Given the description of an element on the screen output the (x, y) to click on. 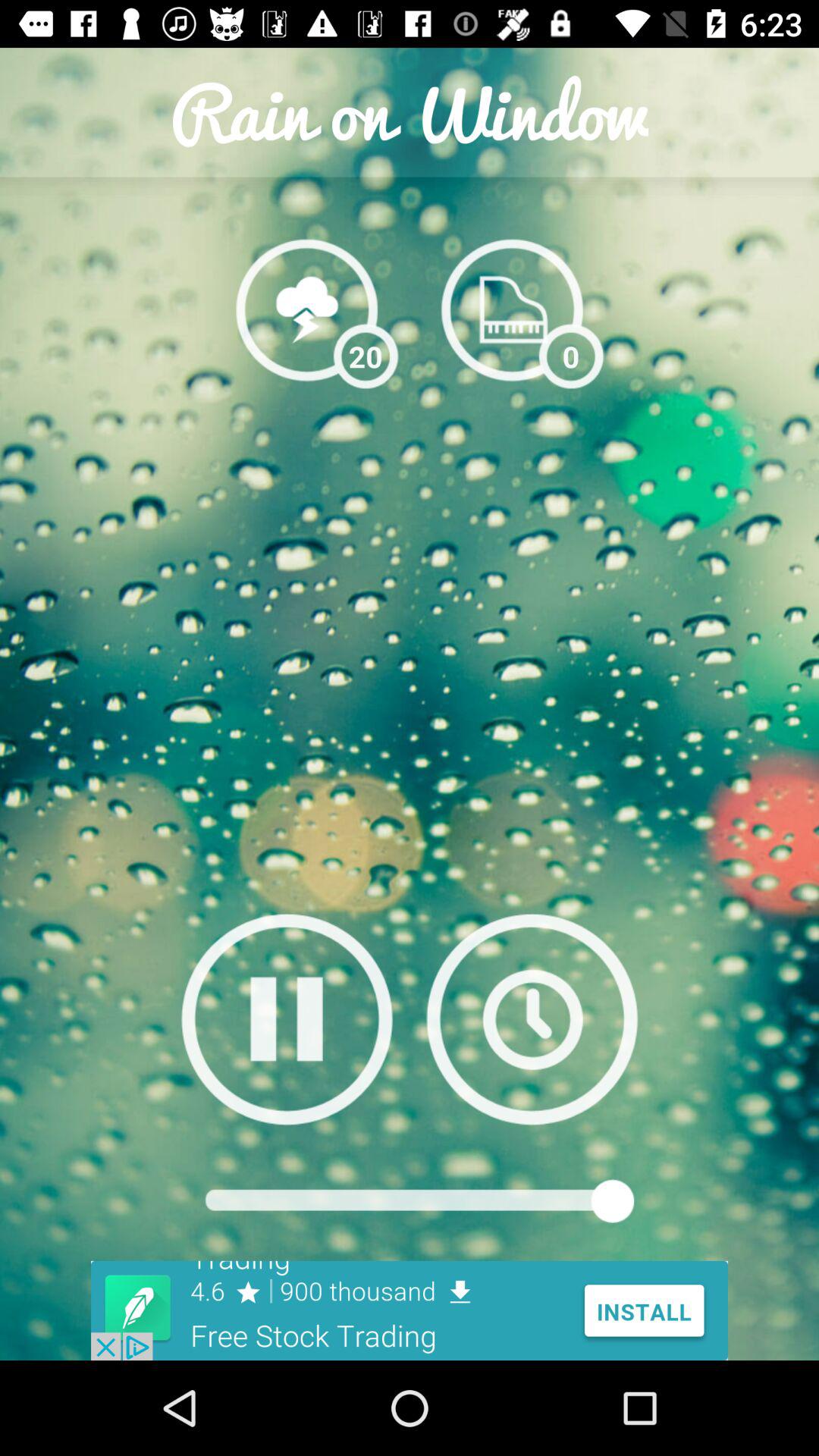
pause (286, 1018)
